Given the description of an element on the screen output the (x, y) to click on. 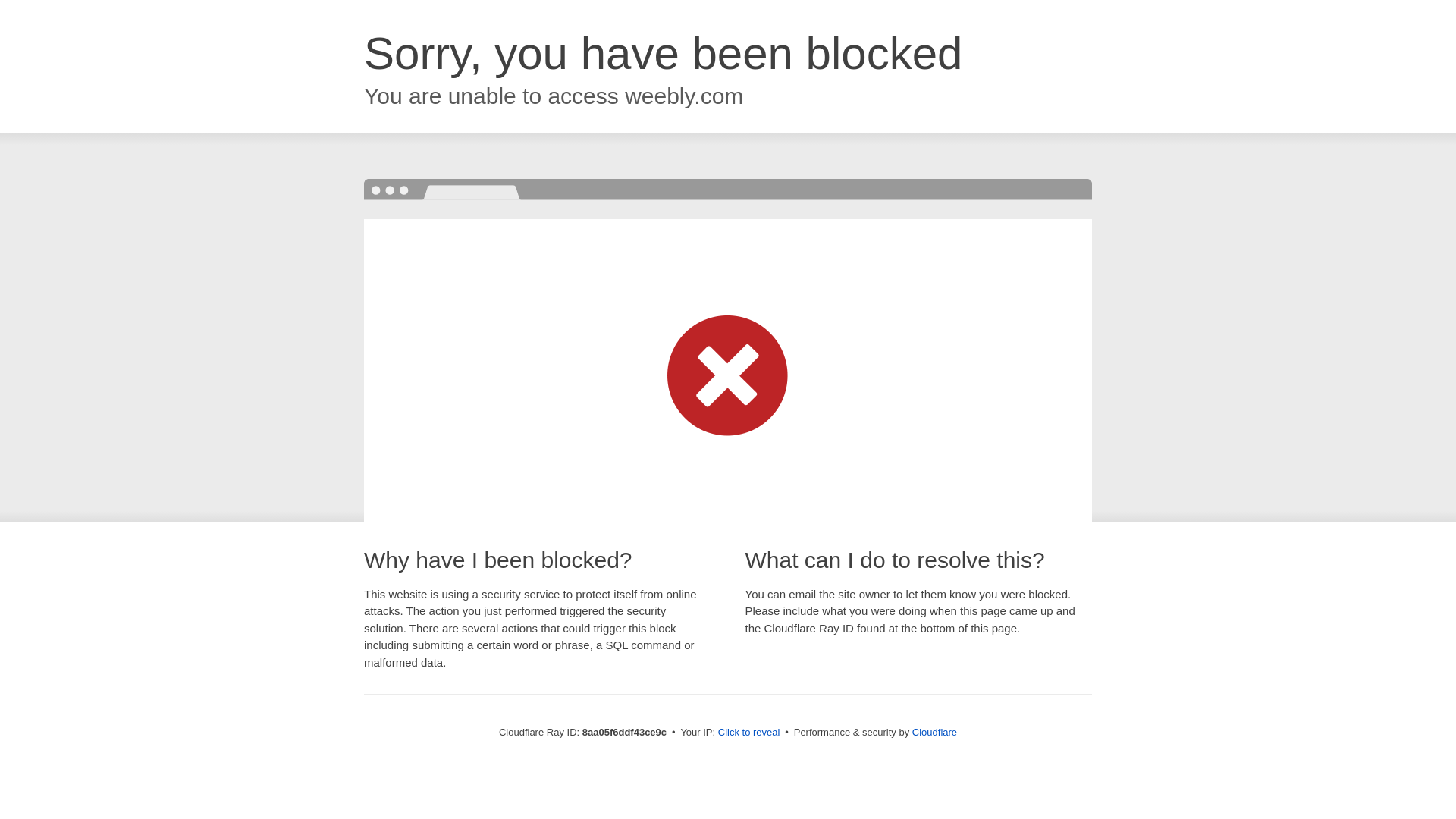
Cloudflare (934, 731)
Click to reveal (748, 732)
